Given the description of an element on the screen output the (x, y) to click on. 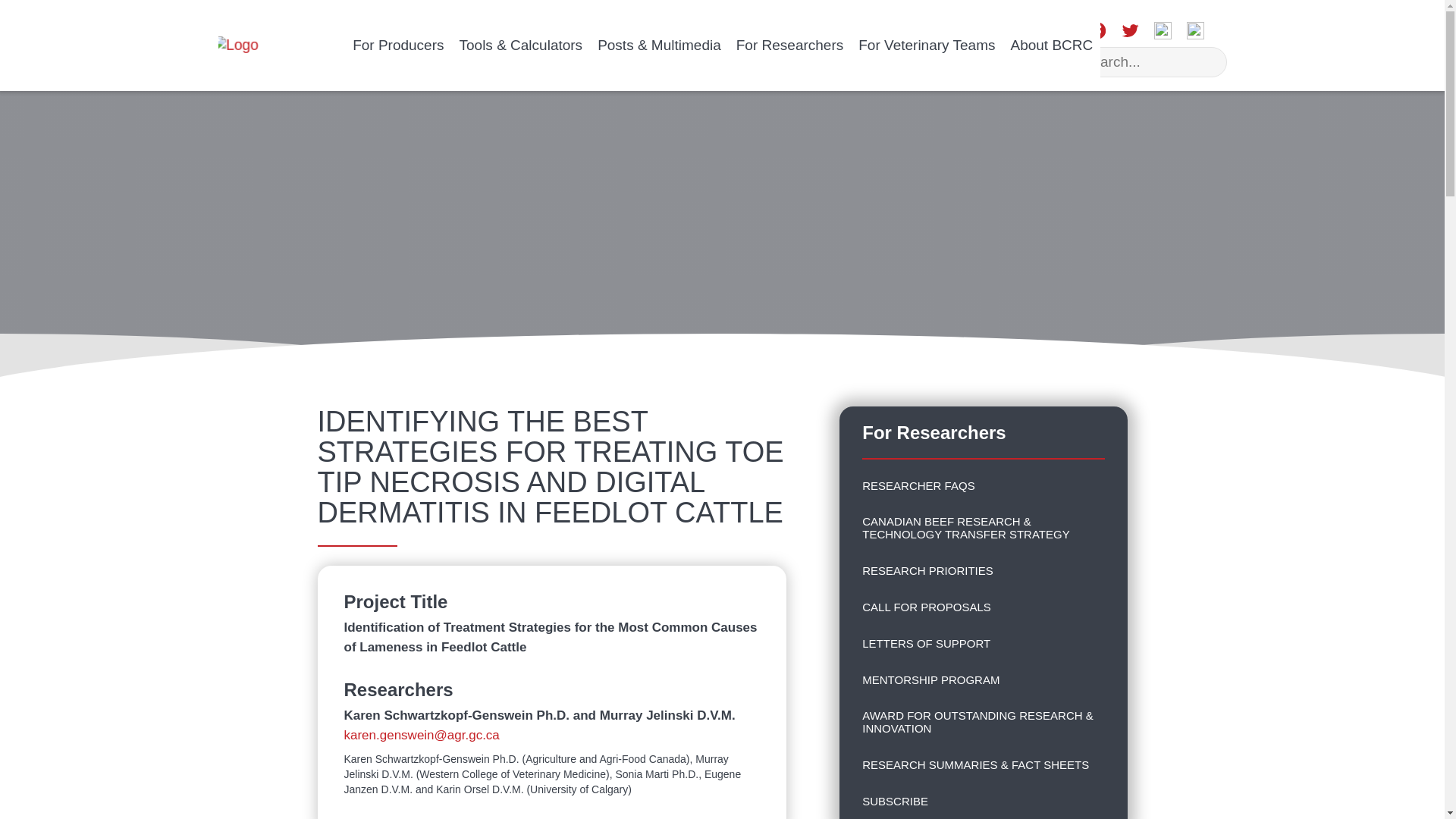
For Producers (398, 45)
Beef Research (234, 45)
For Producers (398, 45)
BCRC (234, 45)
